Given the description of an element on the screen output the (x, y) to click on. 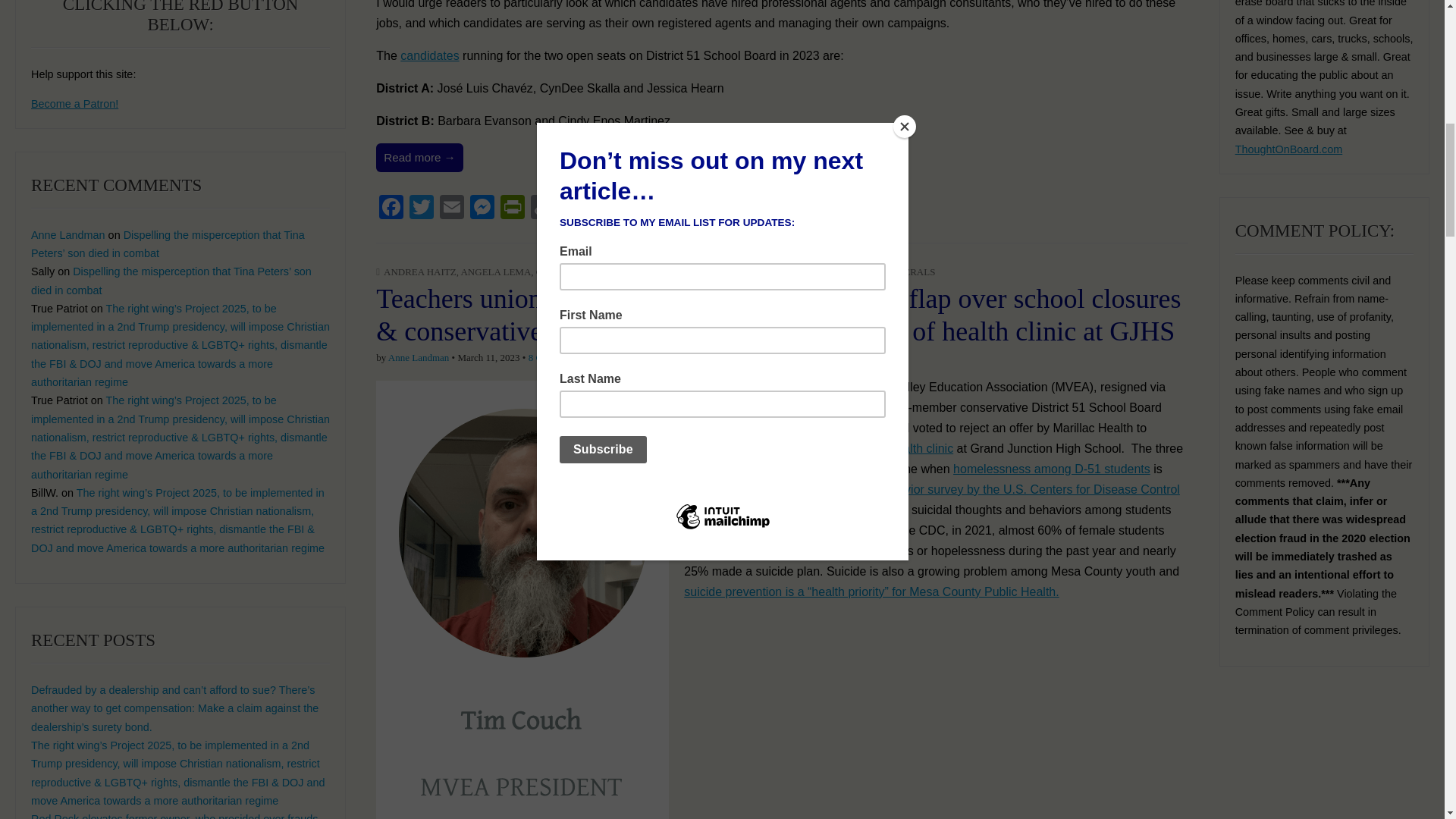
Posts by Anne Landman (418, 357)
CONSERVATIVES (629, 271)
Copy Link (542, 208)
ANGELA LEMA (495, 271)
Facebook (390, 208)
ANDREA HAITZ (420, 271)
Gmail (633, 208)
PrintFriendly (512, 208)
Reddit (572, 208)
Gmail (633, 208)
Twitter (421, 208)
Copy Link (542, 208)
Reddit (572, 208)
Facebook (390, 208)
PrintFriendly (512, 208)
